Given the description of an element on the screen output the (x, y) to click on. 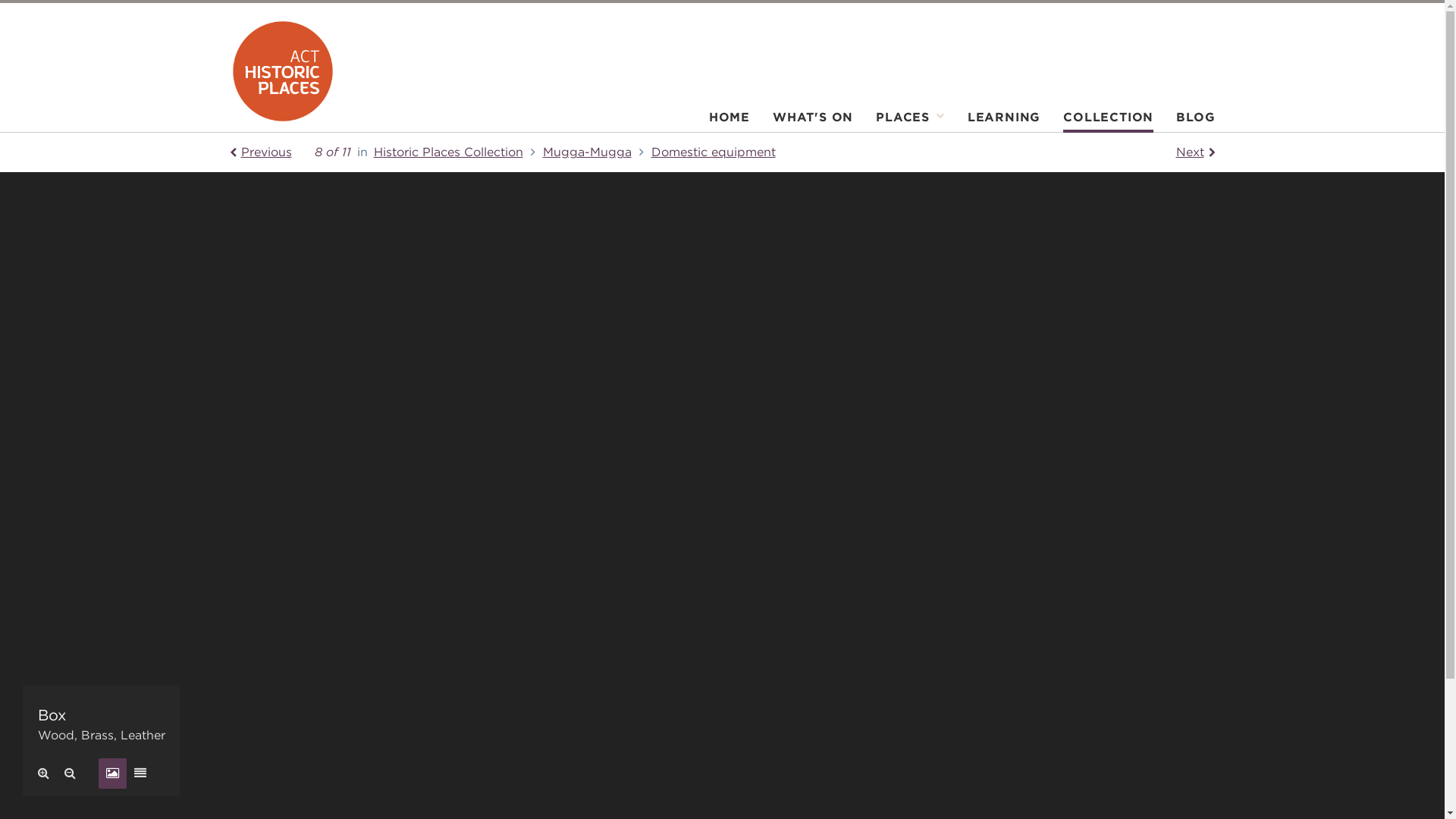
Domestic equipment Element type: text (712, 151)
BLOG Element type: text (1189, 120)
WHAT'S ON Element type: text (812, 120)
COLLECTION Element type: text (1107, 120)
Previous Element type: text (260, 152)
Next Element type: text (1194, 152)
Mugga-Mugga Element type: text (596, 151)
LEARNING Element type: text (1003, 120)
HOME Element type: text (729, 120)
Historic Places Element type: text (282, 71)
Historic Places Collection Element type: text (457, 151)
